Given the description of an element on the screen output the (x, y) to click on. 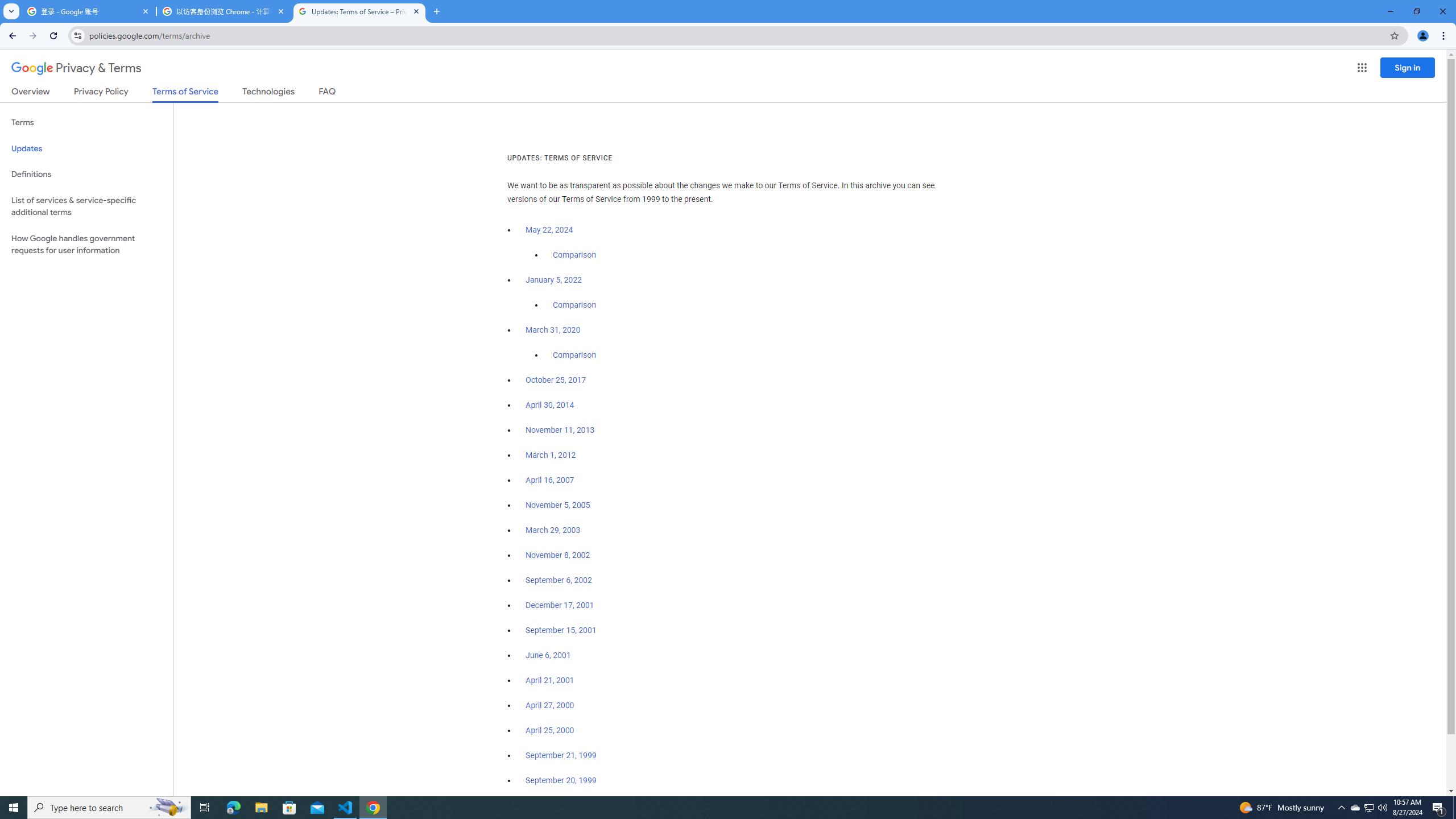
November 5, 2005 (557, 505)
April 30, 2014 (550, 405)
